Given the description of an element on the screen output the (x, y) to click on. 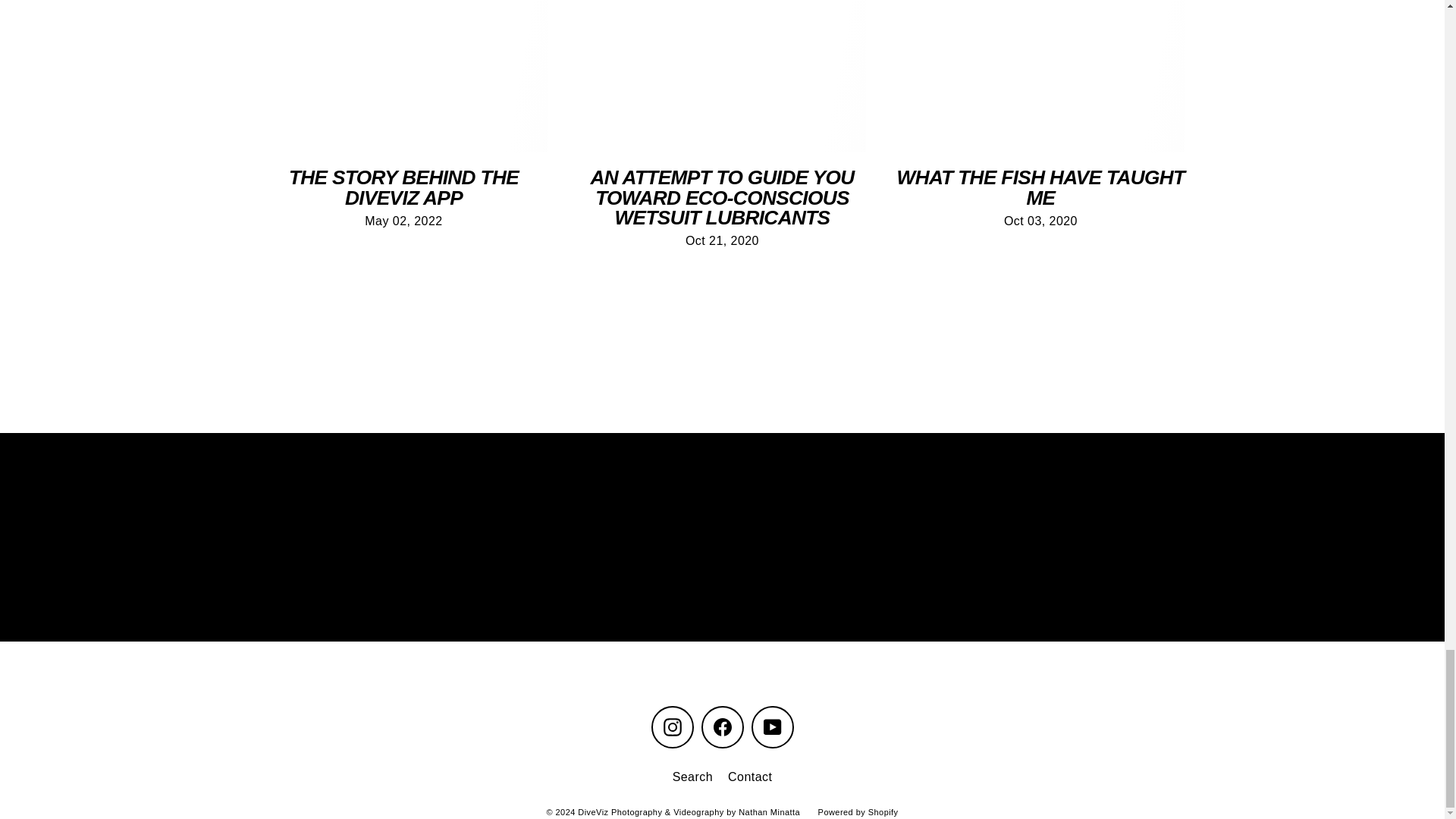
DiveViz on YouTube (772, 726)
Facebook (721, 726)
WHAT THE FISH HAVE TAUGHT ME (1040, 187)
Instagram (671, 726)
DiveViz on Instagram (671, 726)
THE STORY BEHIND THE DIVEVIZ APP (403, 187)
DiveViz on Facebook (721, 726)
